Given the description of an element on the screen output the (x, y) to click on. 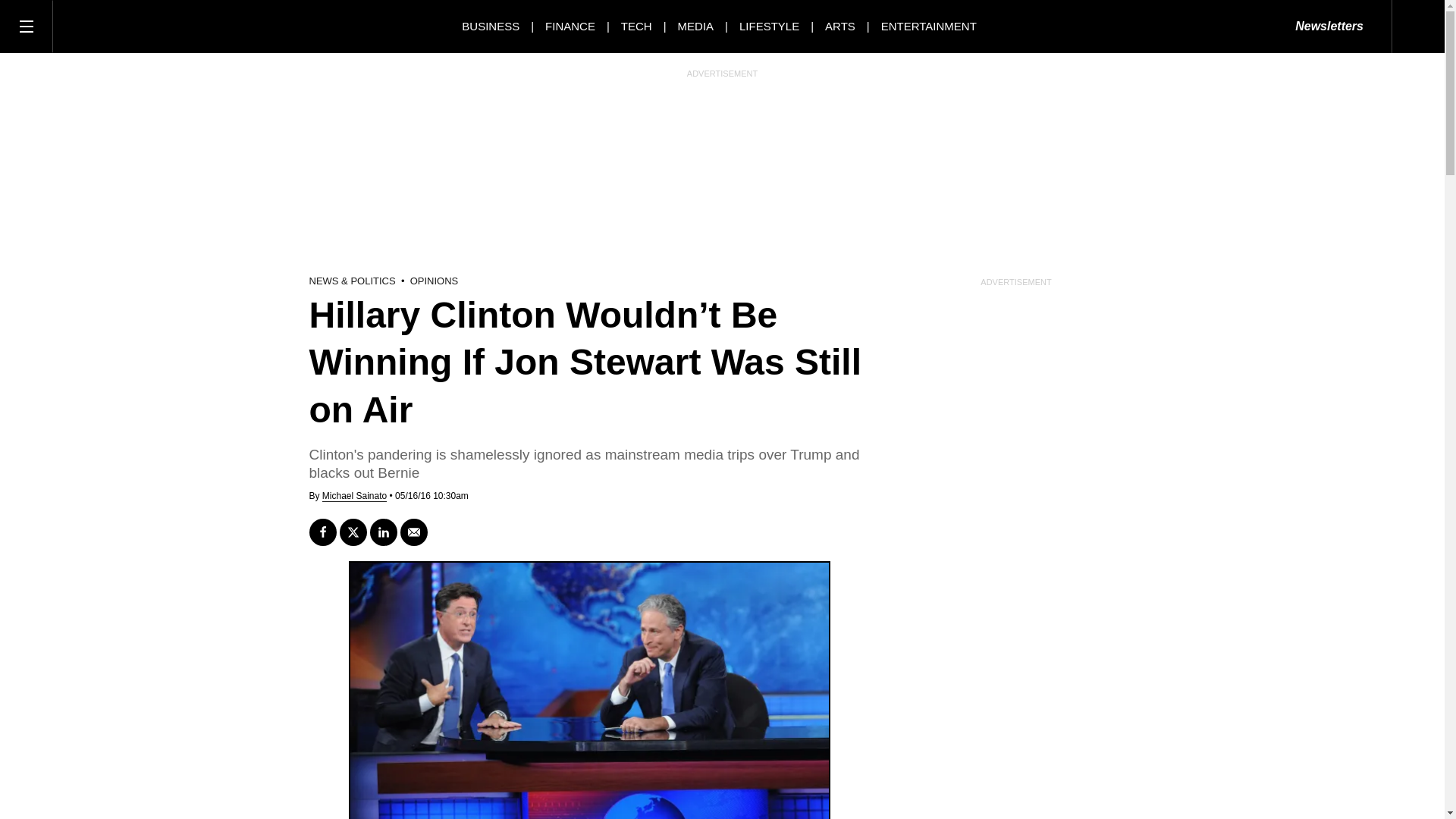
Observer (121, 26)
Share on Facebook (322, 532)
ENTERTAINMENT (928, 25)
FINANCE (569, 25)
Share on LinkedIn (383, 532)
TECH (636, 25)
MEDIA (696, 25)
Tweet (352, 532)
LIFESTYLE (769, 25)
View All Posts by Michael Sainato (354, 496)
